Given the description of an element on the screen output the (x, y) to click on. 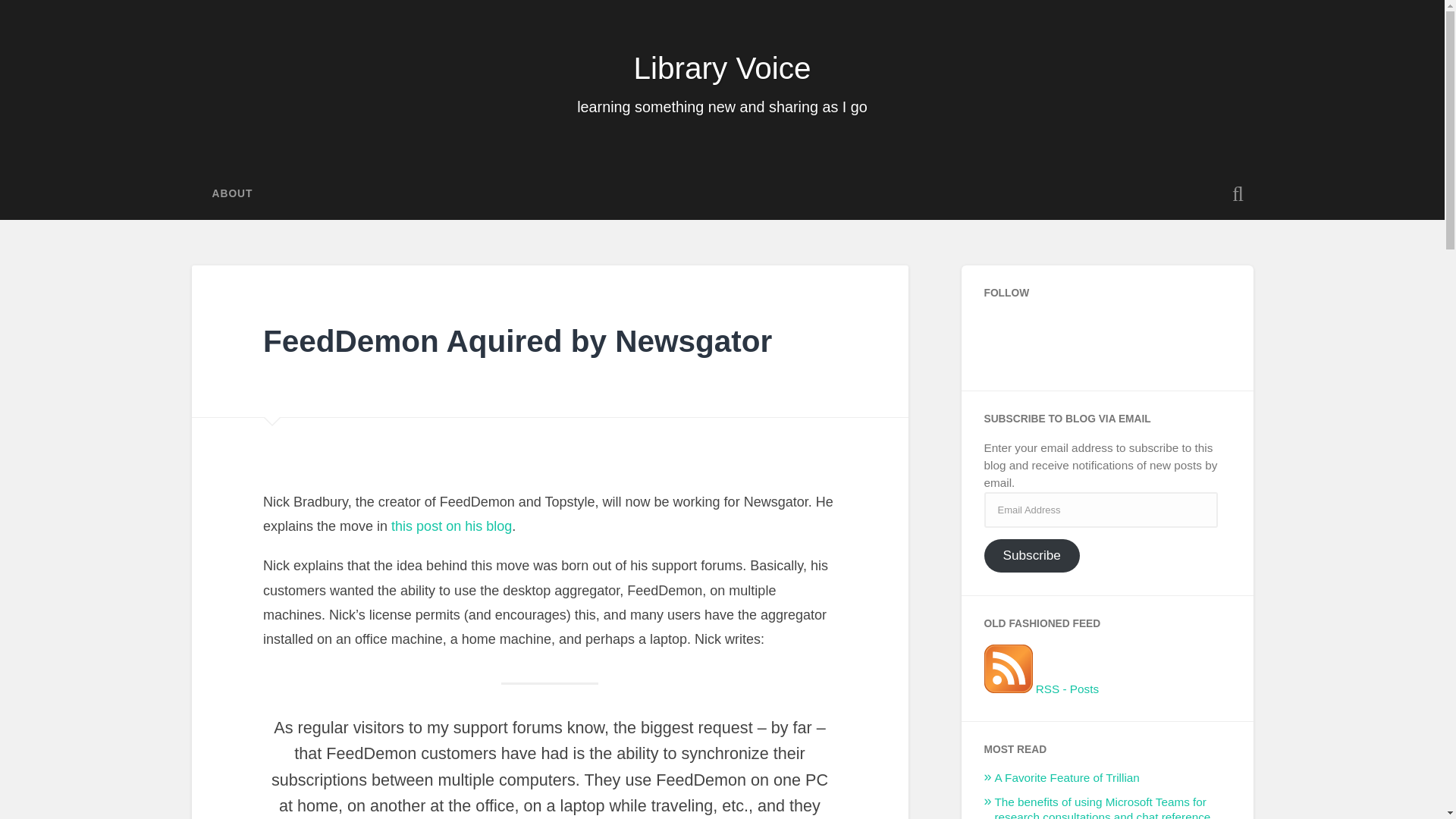
this post on his blog (451, 525)
A Favorite Feature of Trillian (1067, 777)
Instagram (1041, 331)
 RSS - Posts (1041, 688)
LinkedIn (1159, 331)
Flickr (1120, 331)
Twitter (1002, 331)
FeedDemon Aquired by Newsgator (517, 340)
Library Voice (721, 67)
